Given the description of an element on the screen output the (x, y) to click on. 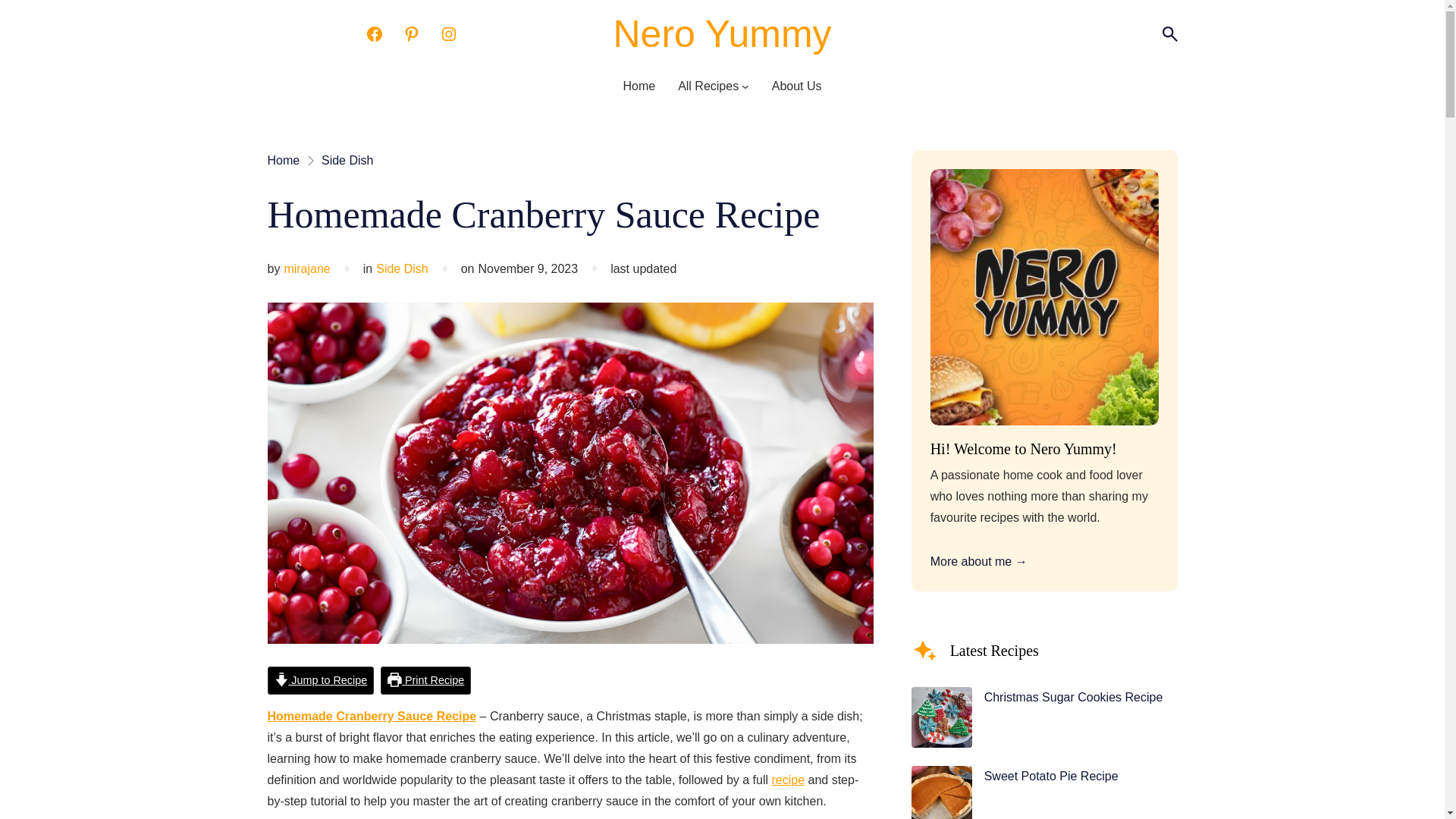
Instagram (448, 34)
All Recipes (708, 86)
About Us (796, 86)
Homemade Cranberry Sauce Recipe (371, 716)
Facebook (374, 34)
mirajane (306, 268)
recipe (788, 779)
Pinterest (410, 34)
Home (639, 86)
Nero Yummy (721, 34)
Side Dish (346, 160)
Print Recipe (425, 680)
Jump to Recipe (320, 680)
Home (282, 160)
Side Dish (401, 268)
